Given the description of an element on the screen output the (x, y) to click on. 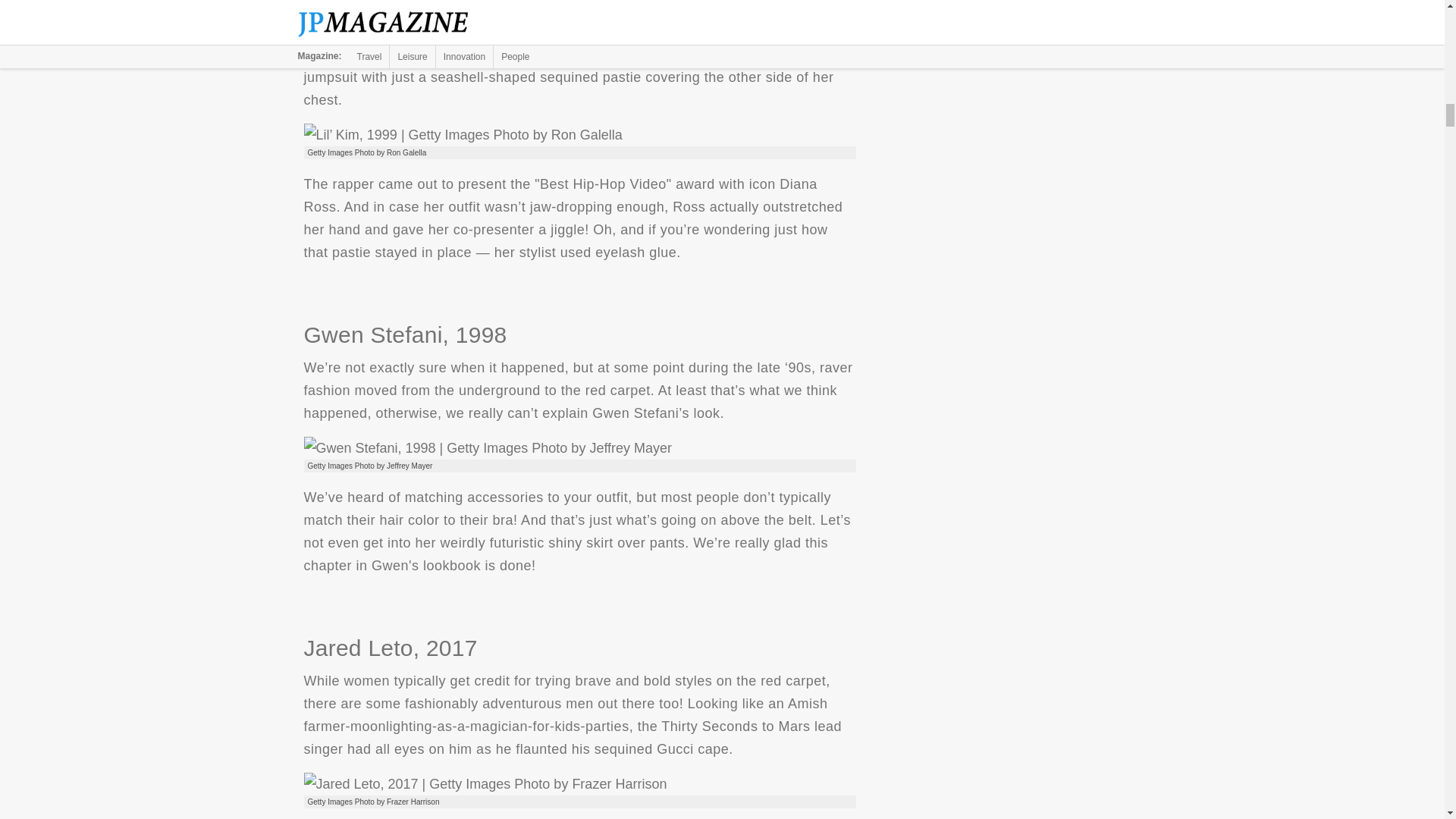
Jared Leto, 2017 (484, 784)
Gwen Stefani, 1998 (486, 447)
